Given the description of an element on the screen output the (x, y) to click on. 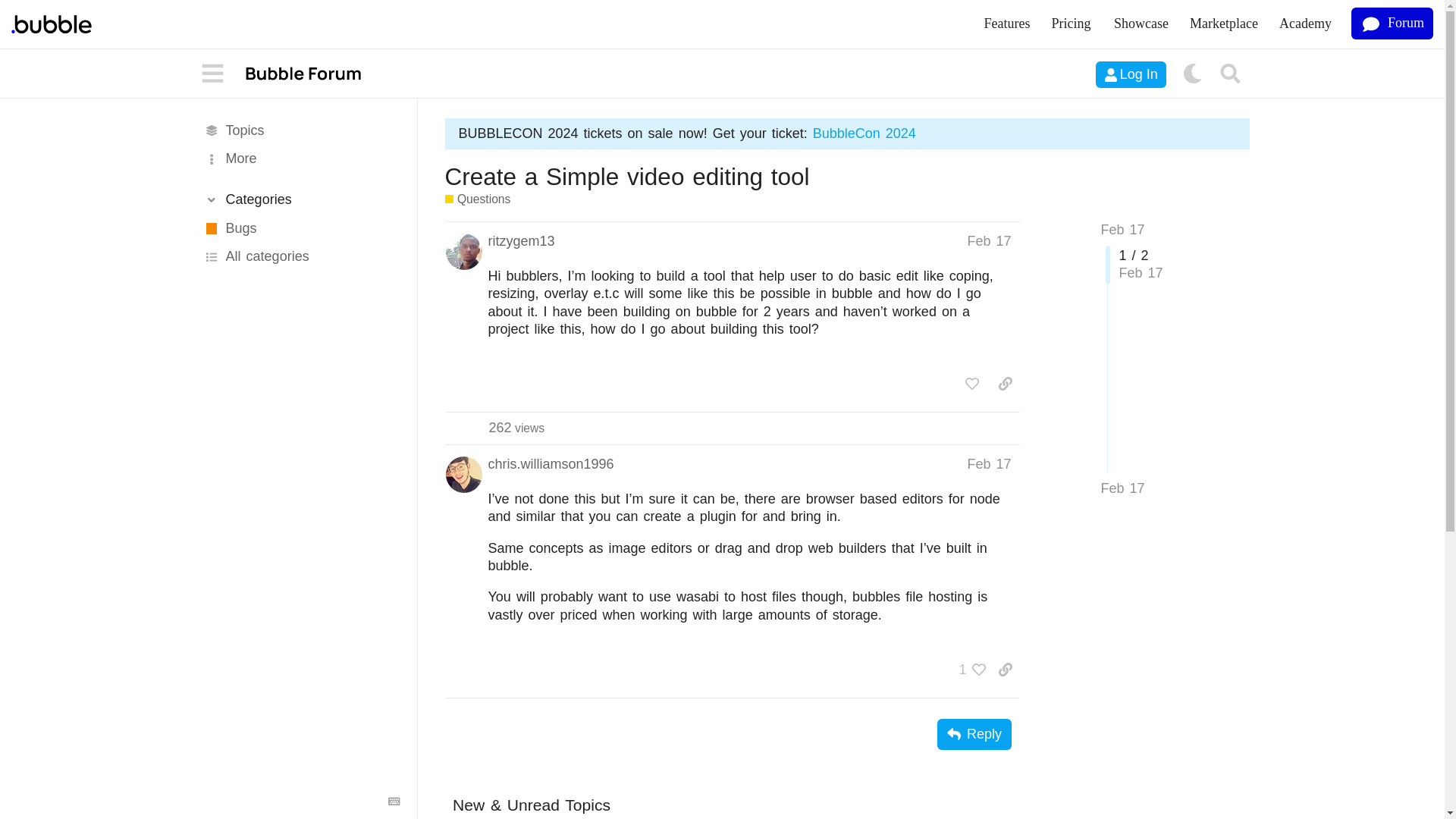
Create a Simple video editing tool (626, 176)
Search (1230, 73)
chris.williamson1996 (550, 464)
1 (967, 669)
Marketplace (1223, 24)
Keyboard Shortcuts (394, 801)
Jump to the last post (1122, 488)
Features (1007, 24)
Categories (300, 199)
Log In (1131, 74)
